Given the description of an element on the screen output the (x, y) to click on. 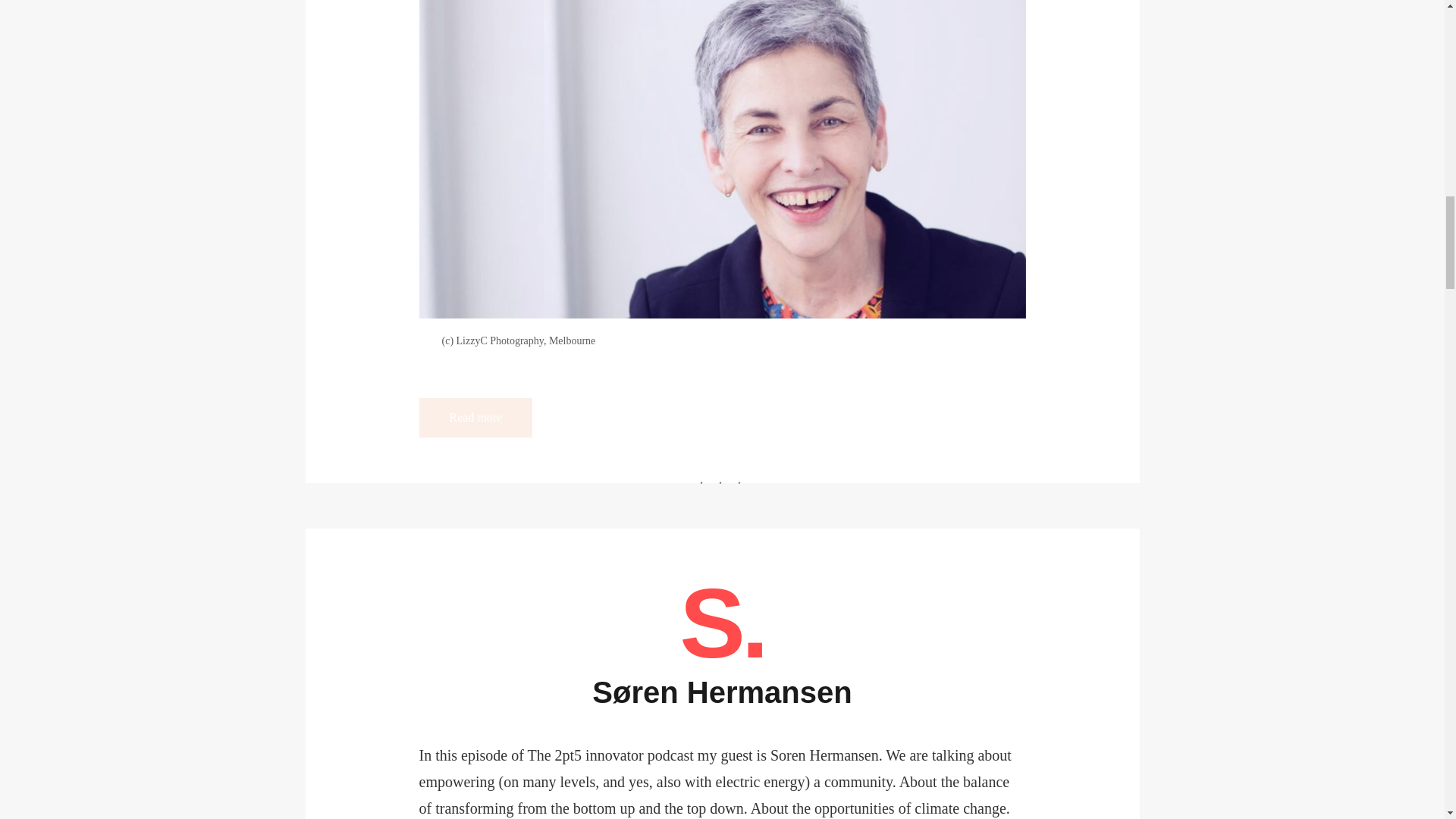
Read more (475, 417)
